Given the description of an element on the screen output the (x, y) to click on. 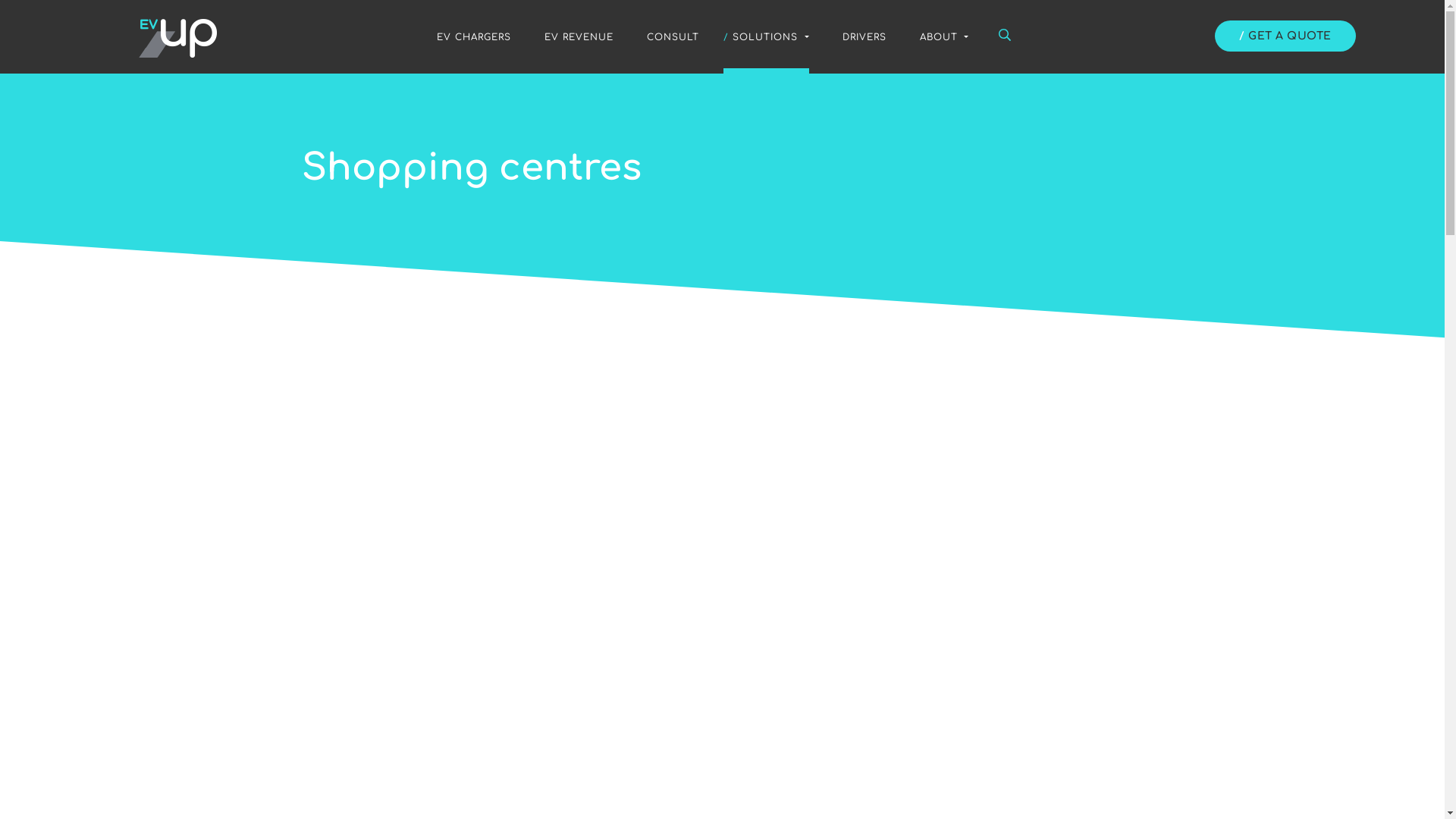
/ DRIVERS Element type: text (858, 36)
/ ABOUT Element type: text (938, 36)
/ EV REVENUE Element type: text (574, 36)
/ GET A QUOTE Element type: text (1284, 35)
/ SOLUTIONS Element type: text (765, 36)
/ EV CHARGERS Element type: text (469, 36)
/ CONSULT Element type: text (668, 36)
